Given the description of an element on the screen output the (x, y) to click on. 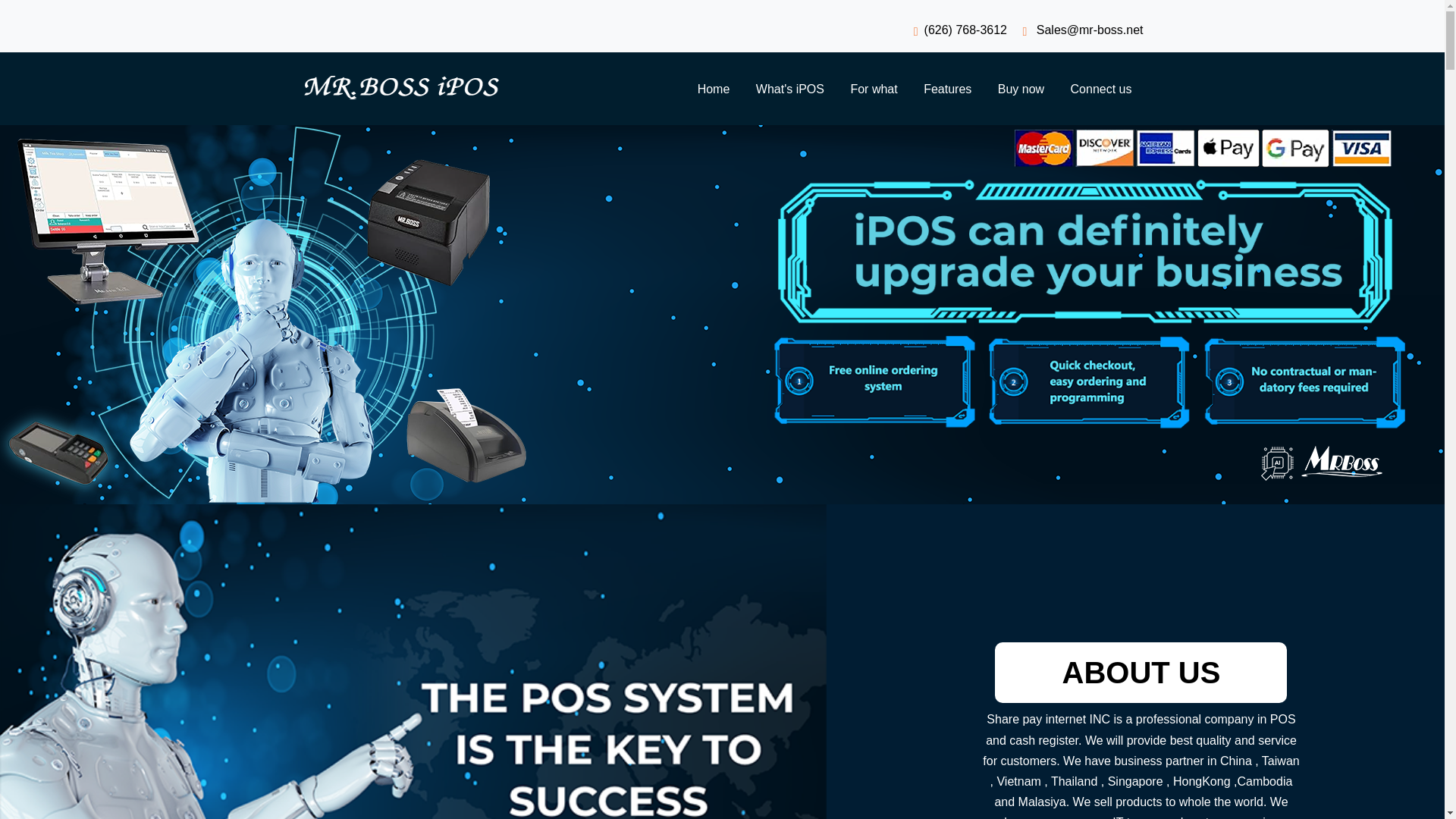
For what (873, 89)
Features (947, 89)
What's iPOS (789, 89)
Home (713, 89)
Connect us (1100, 89)
Buy now (1021, 89)
